Given the description of an element on the screen output the (x, y) to click on. 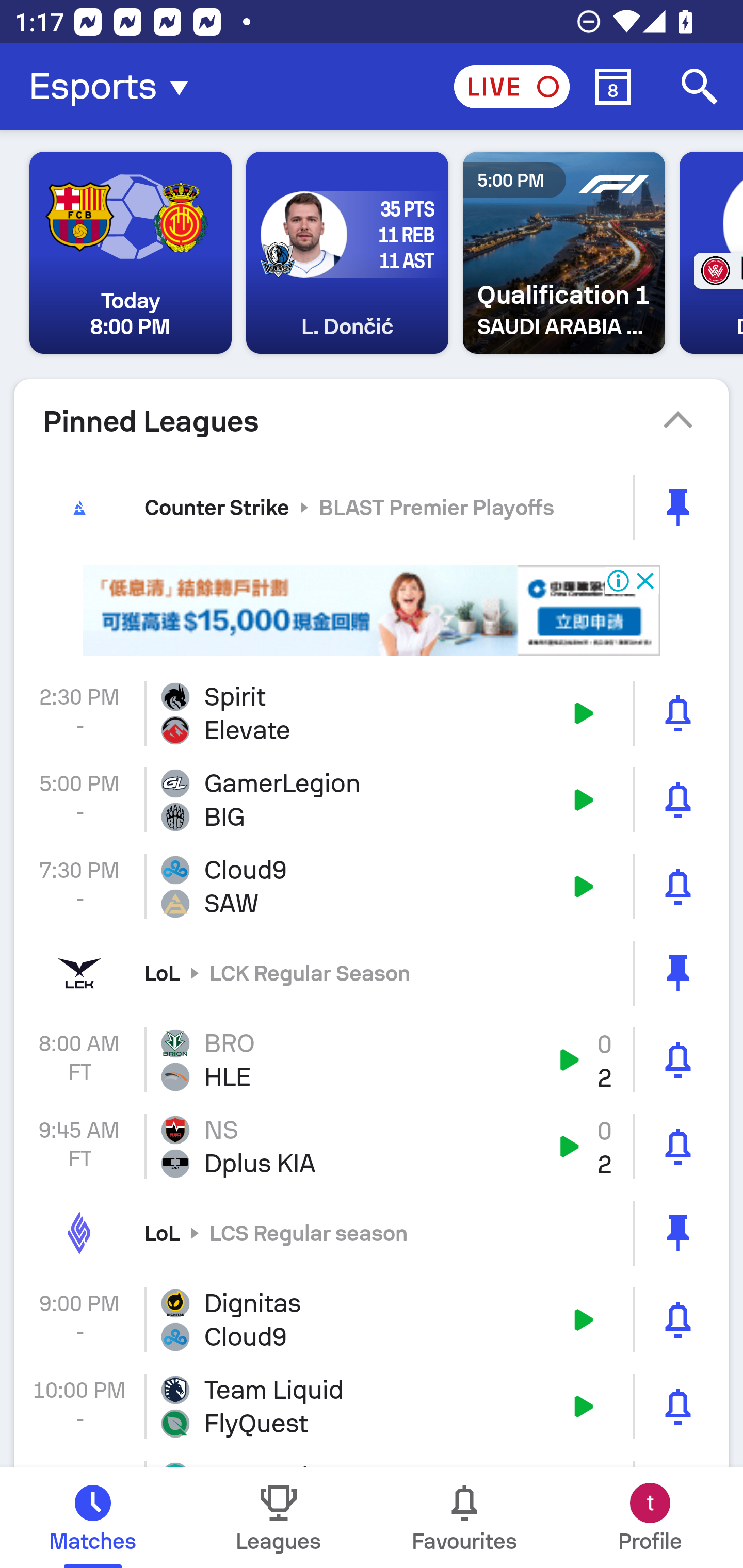
Esports (114, 86)
Calendar (612, 86)
Search (699, 86)
Today
8:00 PM (130, 253)
35 PTS
11 REB
11 AST L. Dončić (346, 253)
Pinned Leagues (371, 421)
Counter Strike BLAST Premier Playoffs (371, 507)
Advertisement (371, 610)
2:30 PM - Spirit Elevate (371, 713)
5:00 PM - GamerLegion BIG (371, 800)
7:30 PM - Cloud9 SAW (371, 886)
LoL LCK Regular Season (371, 972)
8:00 AM FT BRO HLE 0 2 (371, 1059)
9:45 AM FT NS Dplus KIA 0 2 (371, 1146)
LoL LCS Regular season (371, 1233)
9:00 PM - Dignitas Cloud9 (371, 1319)
10:00 PM - Team Liquid FlyQuest (371, 1406)
Leagues (278, 1517)
Favourites (464, 1517)
Profile (650, 1517)
